Given the description of an element on the screen output the (x, y) to click on. 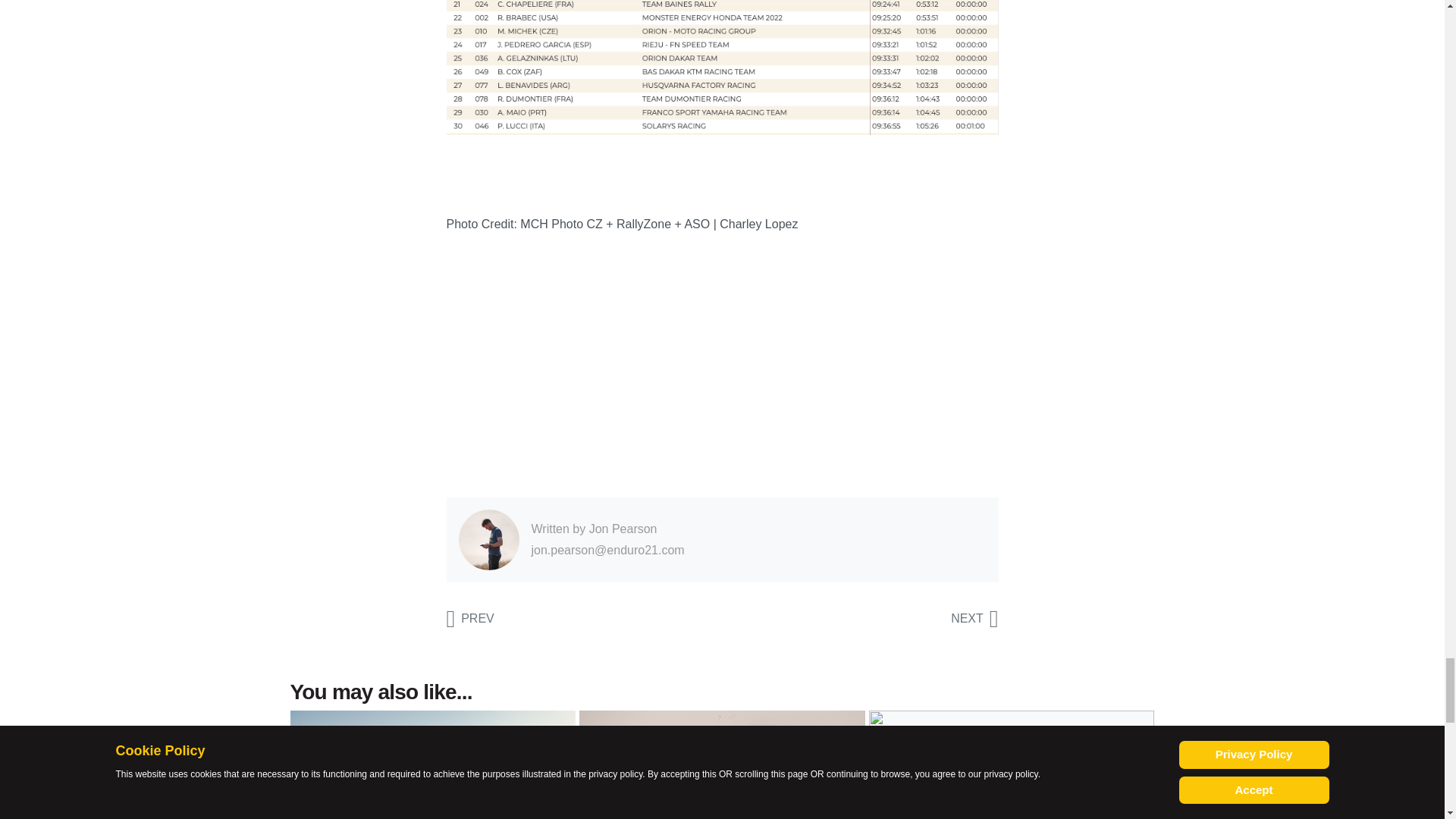
3rd party ad content (721, 366)
